Given the description of an element on the screen output the (x, y) to click on. 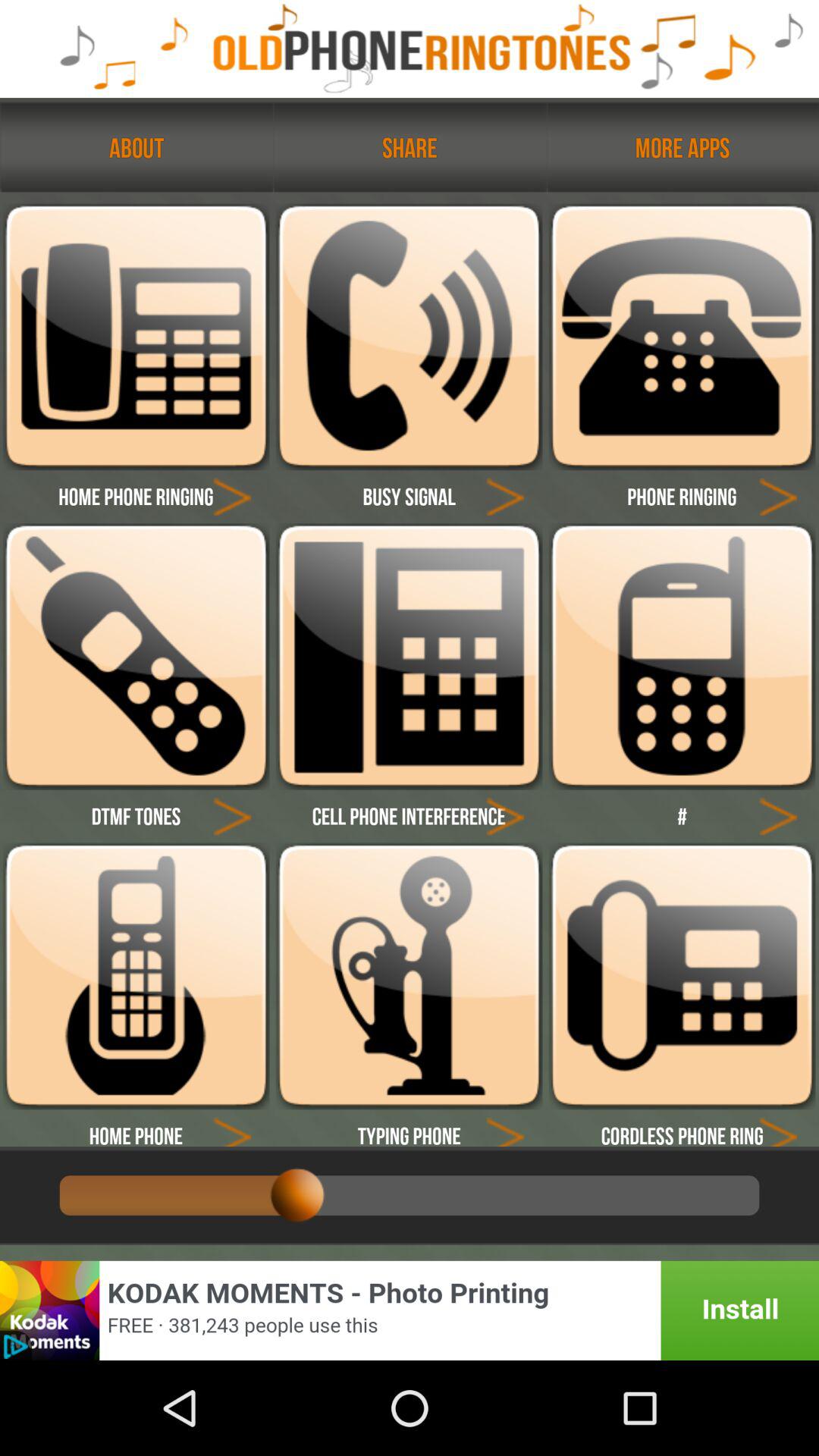
click arrow button (505, 815)
